Given the description of an element on the screen output the (x, y) to click on. 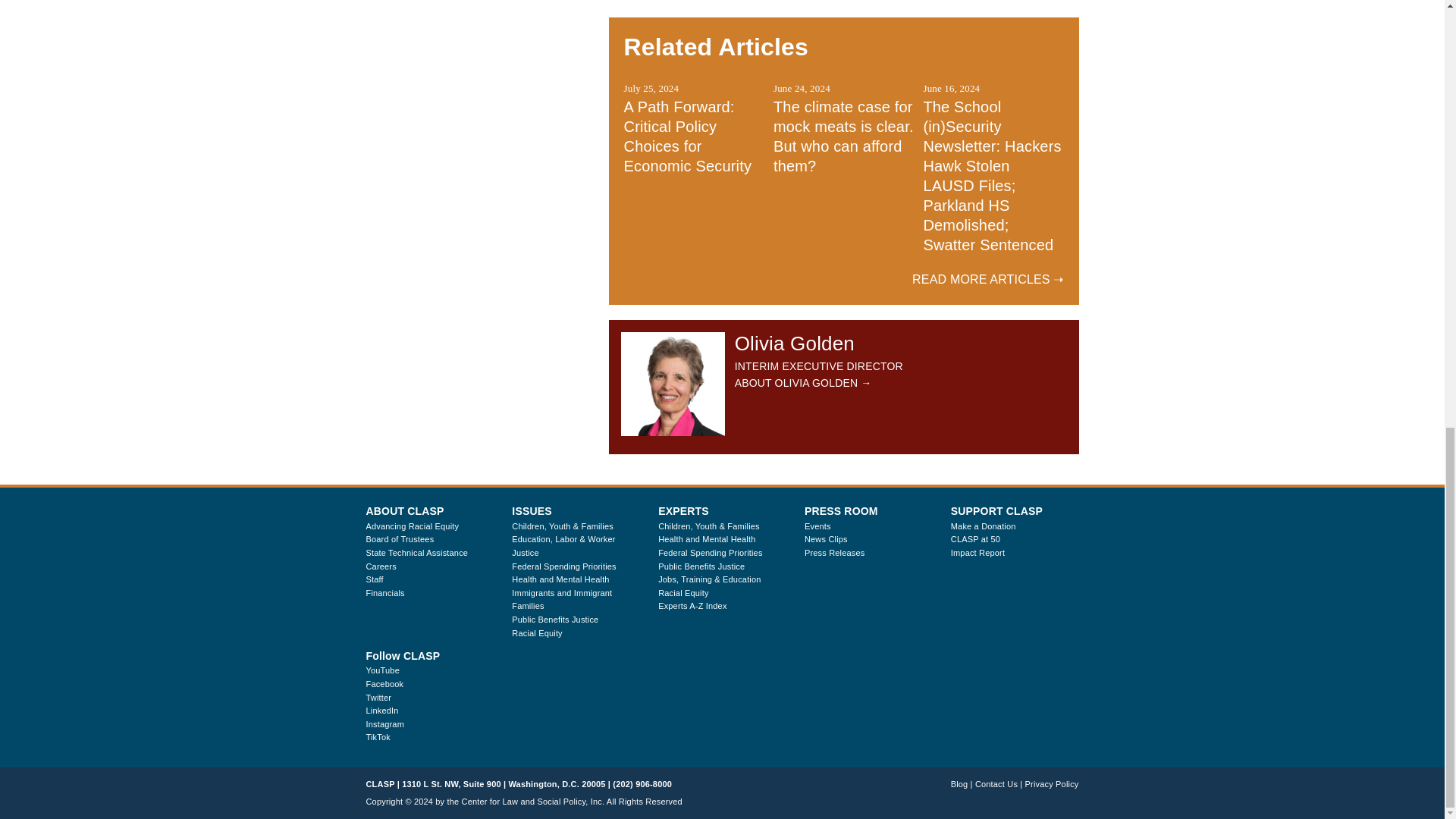
Privacy Policy (1051, 783)
Contact Us (996, 783)
Olivia Golden (673, 384)
Blog (959, 783)
